Given the description of an element on the screen output the (x, y) to click on. 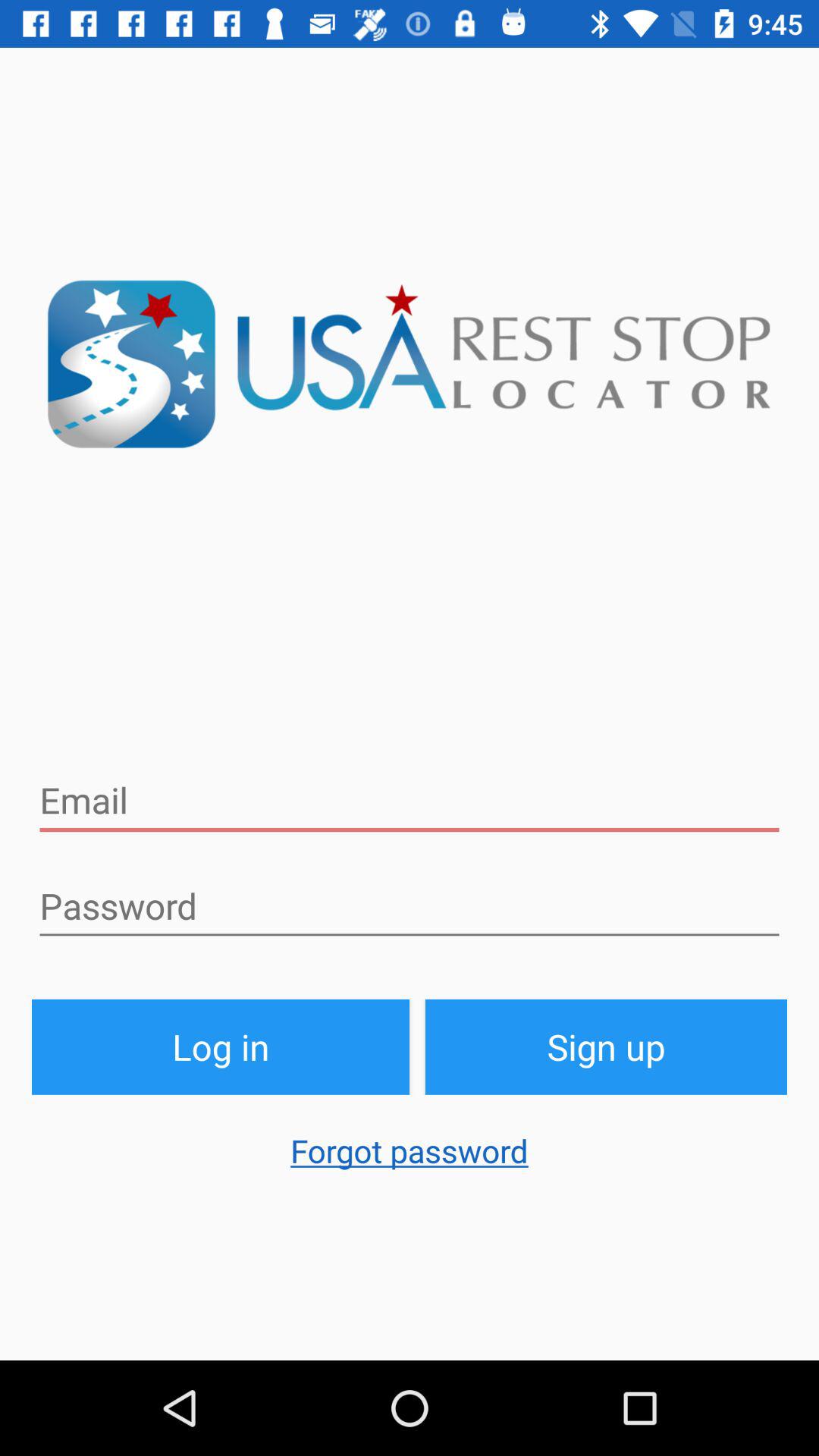
jump to forgot password (409, 1158)
